Given the description of an element on the screen output the (x, y) to click on. 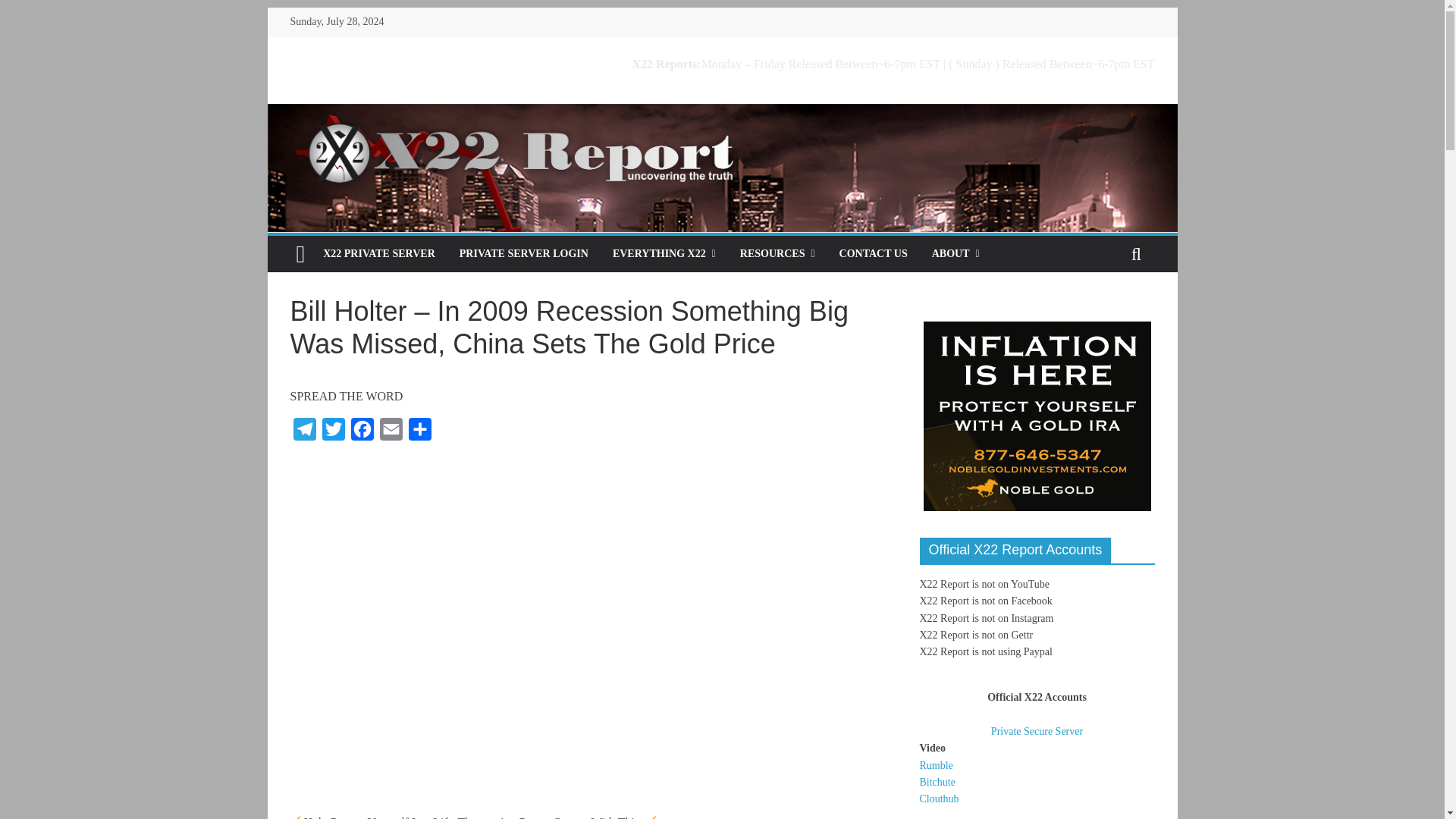
Telegram (303, 432)
Twitter (332, 432)
Share (418, 432)
Twitter (332, 432)
Email (389, 432)
EVERYTHING X22 (663, 253)
Facebook (361, 432)
RESOURCES (777, 253)
PRIVATE SERVER LOGIN (522, 253)
Telegram (303, 432)
ABOUT (955, 253)
Facebook (361, 432)
CONTACT US (873, 253)
Email (389, 432)
